Given the description of an element on the screen output the (x, y) to click on. 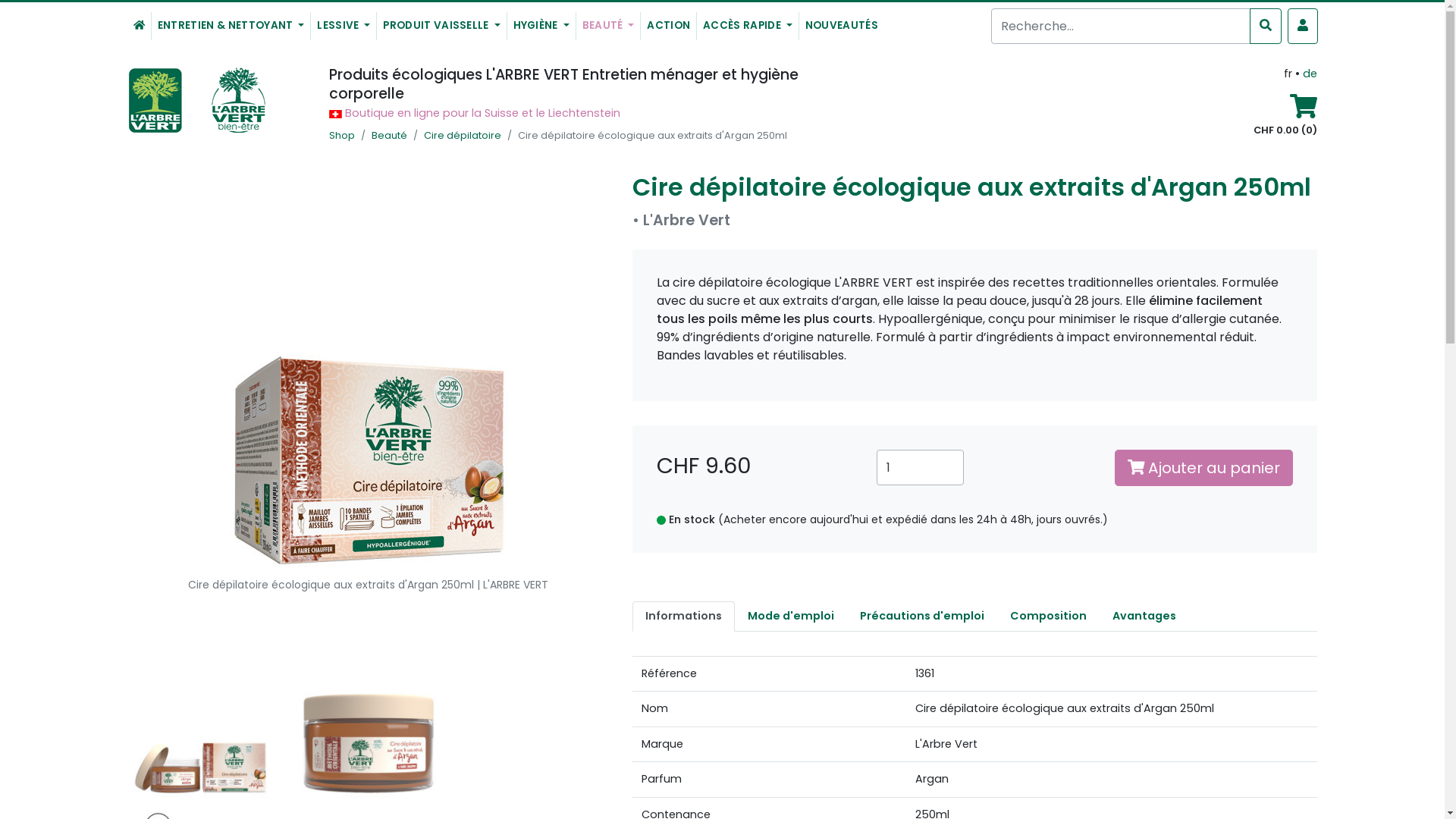
Shop Element type: text (341, 134)
Ajouter au panier Element type: text (1203, 467)
Afficher votre panier... Element type: hover (1303, 110)
Avantages Element type: text (1144, 616)
ACTION Element type: text (668, 25)
LESSIVE Element type: text (343, 25)
Composition Element type: text (1048, 616)
PRODUIT VAISSELLE Element type: text (440, 25)
L'Arbre Vert home Element type: hover (138, 25)
Mode d'emploi Element type: text (790, 616)
de Element type: text (1309, 73)
ENTRETIEN & NETTOYANT Element type: text (230, 25)
Informations Element type: text (683, 616)
